Given the description of an element on the screen output the (x, y) to click on. 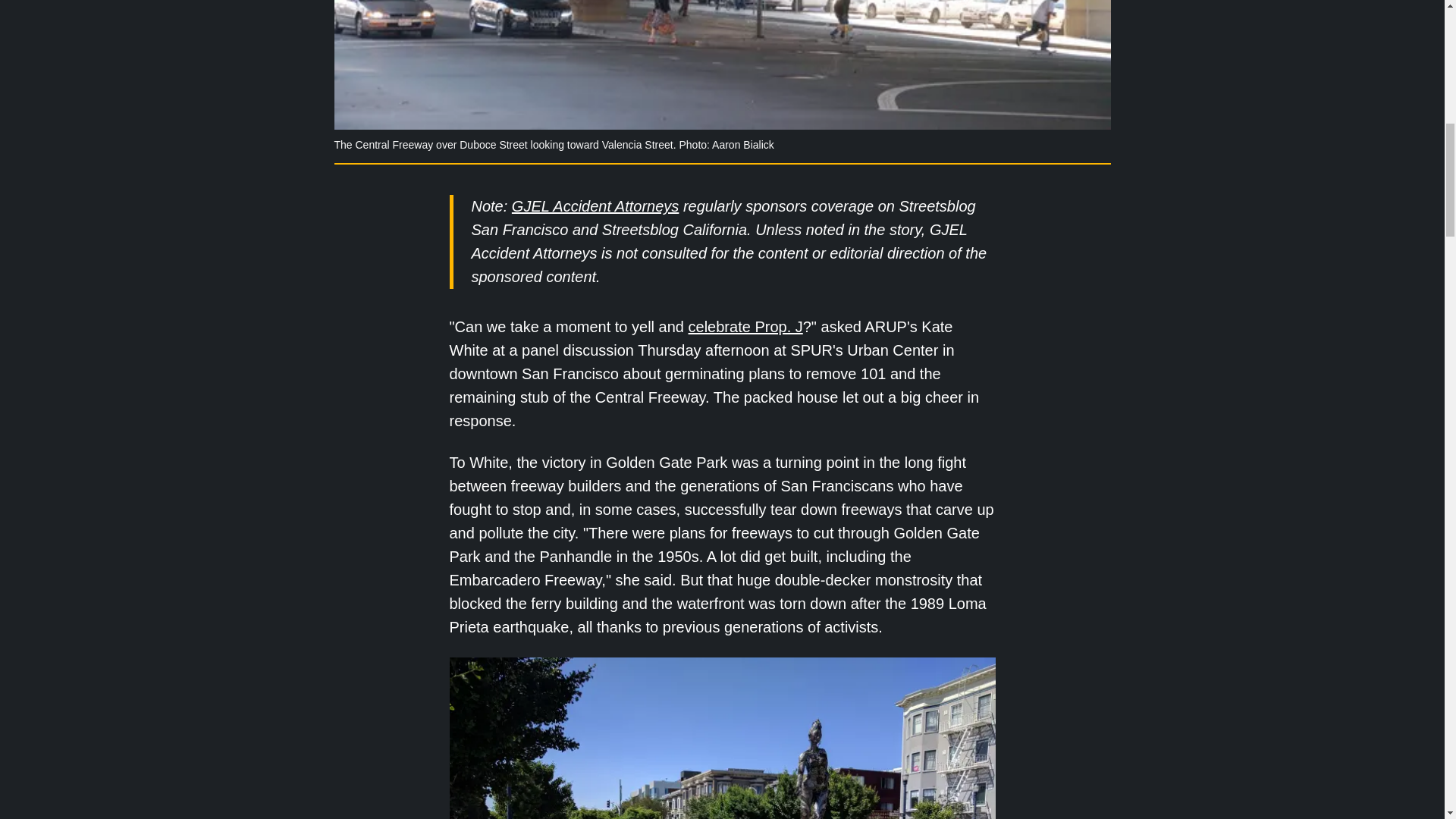
GJEL Accident Attorneys (595, 206)
celebrate Prop. J (745, 326)
